Given the description of an element on the screen output the (x, y) to click on. 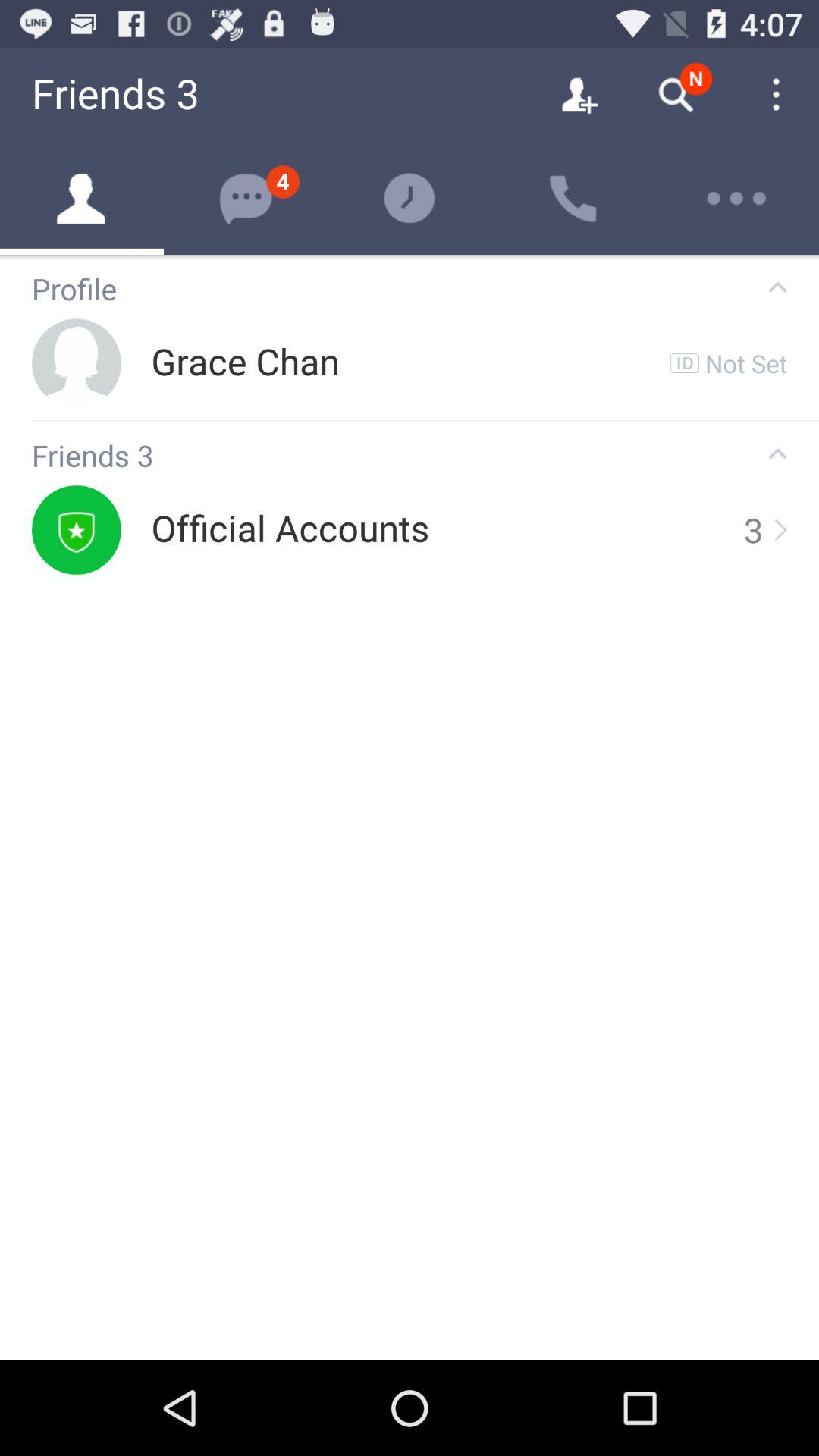
turn off profile icon (384, 289)
